Given the description of an element on the screen output the (x, y) to click on. 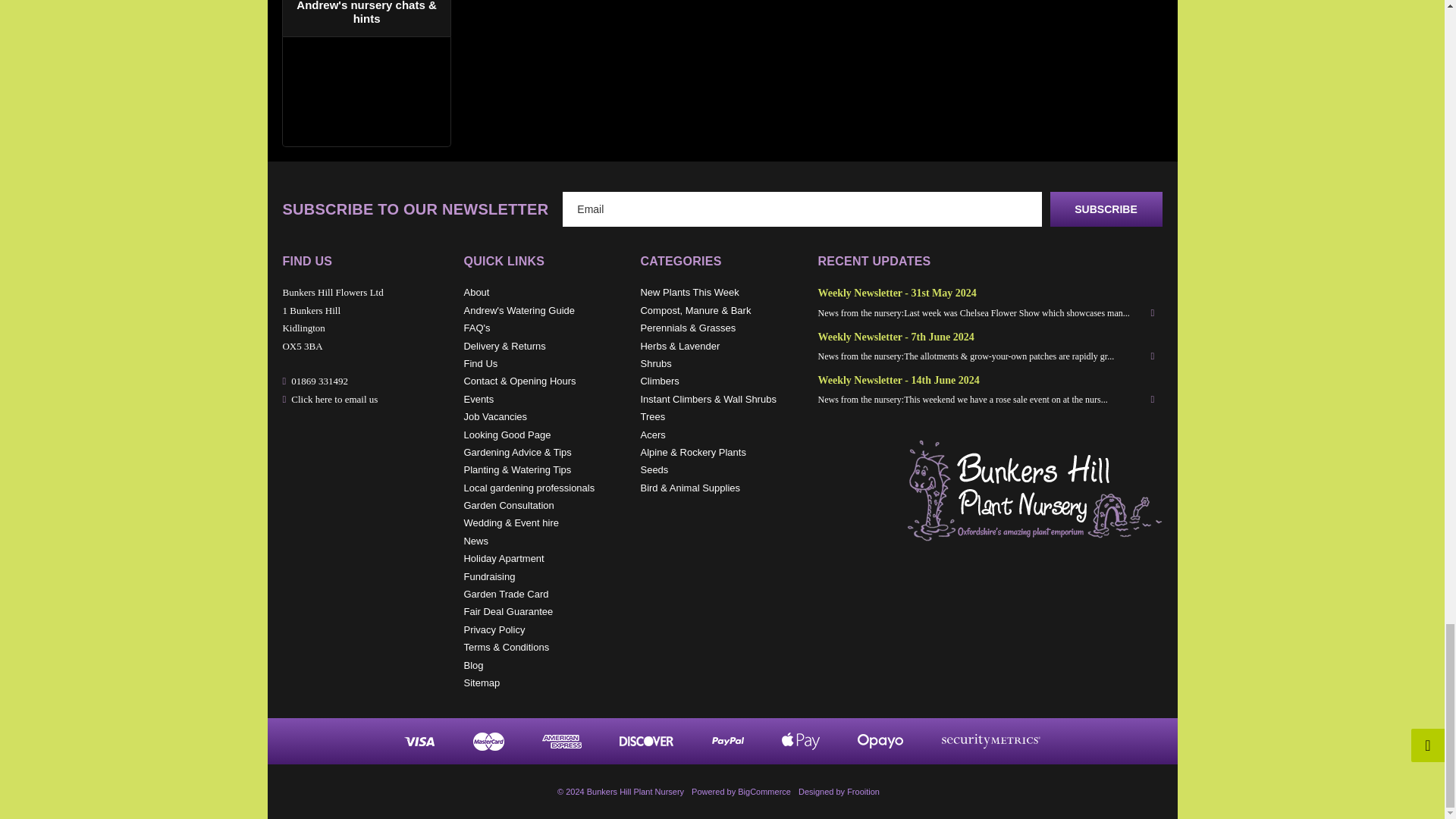
Subscribe (1105, 208)
